Given the description of an element on the screen output the (x, y) to click on. 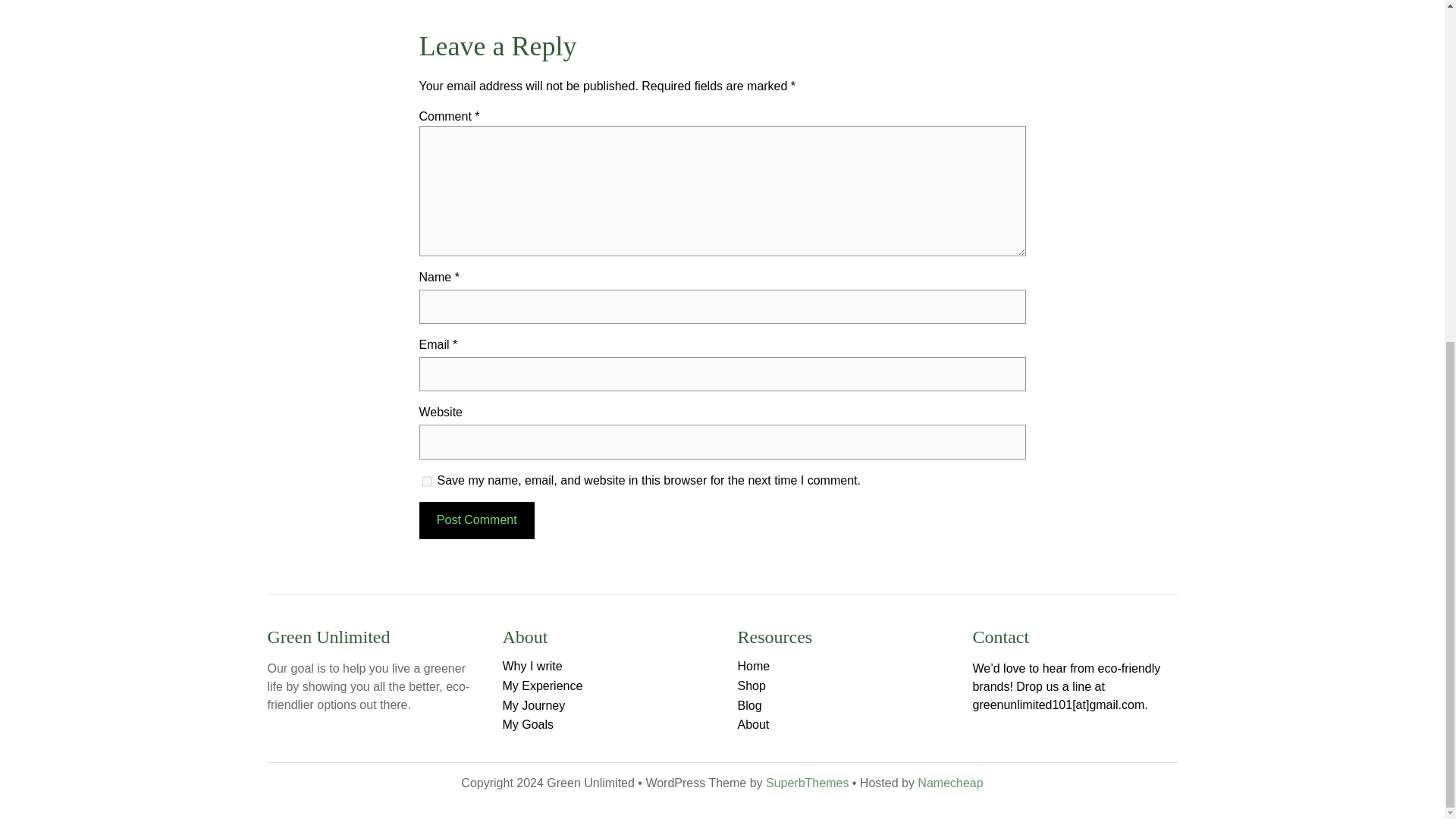
My Goals (527, 725)
My Experience (542, 685)
Home (753, 666)
Shop (750, 685)
About (752, 725)
My Journey (533, 705)
Post Comment (476, 520)
Blog (748, 705)
SuperbThemes (806, 782)
Why I write (532, 666)
